Given the description of an element on the screen output the (x, y) to click on. 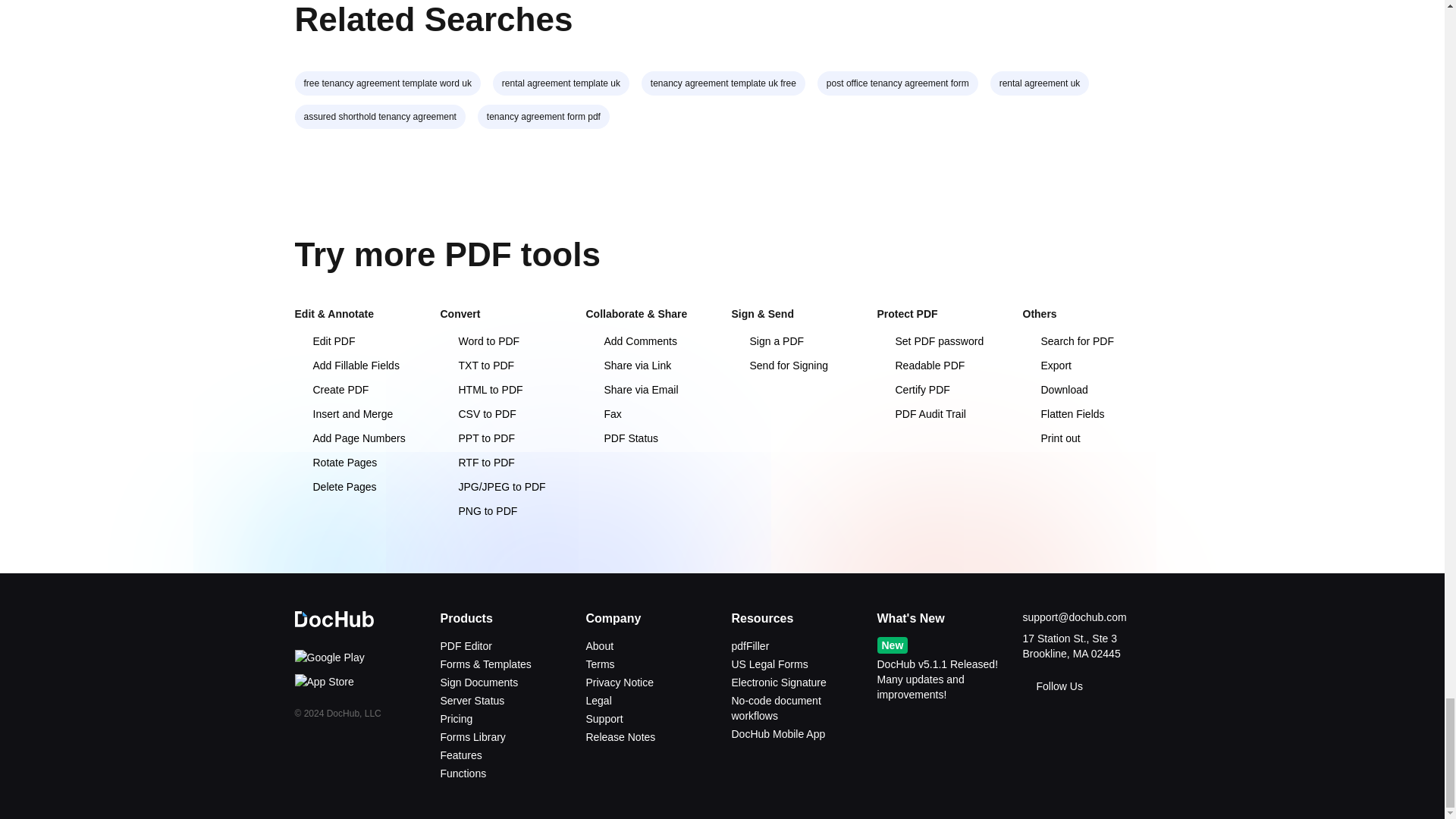
PNG to PDF (477, 510)
PDF Status (621, 438)
Add Comments (631, 340)
Share via Email (631, 389)
Add Fillable Fields (346, 365)
TXT to PDF (476, 365)
Share via Link (628, 365)
Edit PDF (324, 340)
Delete Pages (334, 486)
PPT to PDF (476, 438)
